Given the description of an element on the screen output the (x, y) to click on. 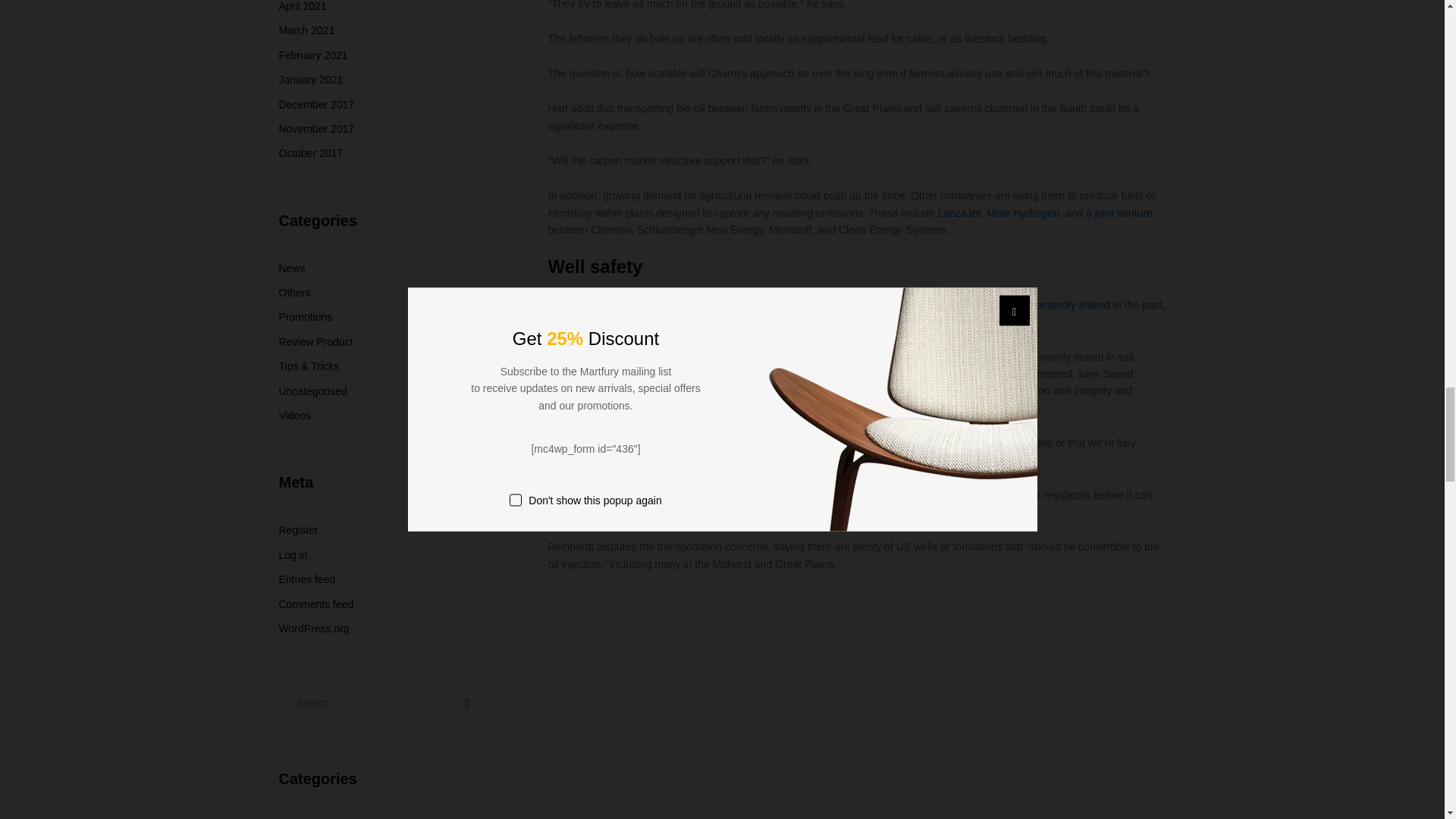
LanzaJet (959, 213)
joint venture (1123, 213)
Search (463, 703)
repeatedly leaked (1067, 304)
Mote Hydrogen (1023, 213)
Search (463, 703)
